Given the description of an element on the screen output the (x, y) to click on. 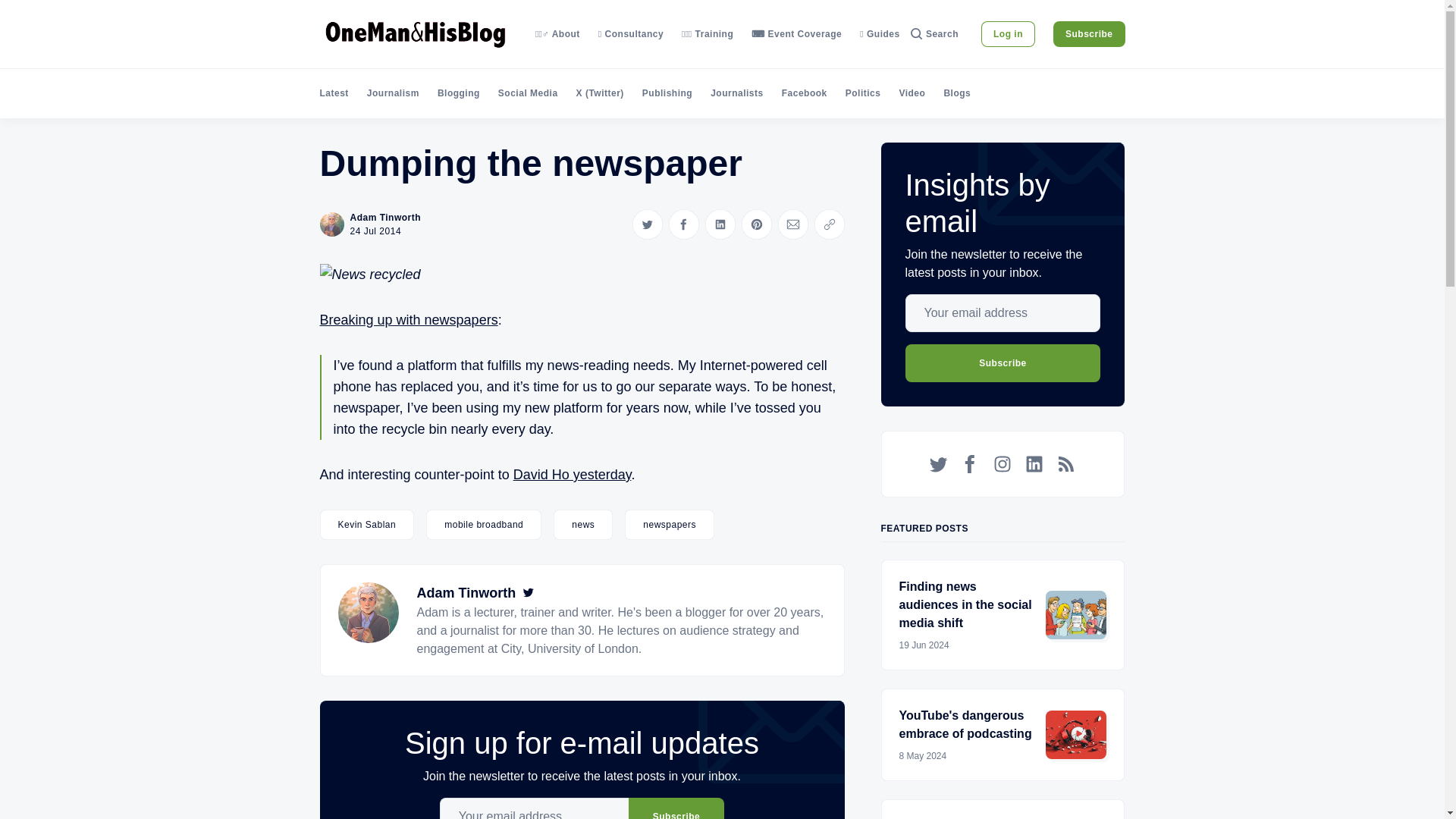
Adam Tinworth (466, 592)
Search (933, 33)
Breaking up with newspapers (408, 319)
Subscribe (1088, 33)
Publishing (667, 92)
David Ho yesterday (572, 474)
Facebook (804, 92)
Share on Pinterest (756, 224)
Share on Facebook (683, 224)
Twitter (528, 592)
newspapers (669, 524)
Adam Tinworth (386, 217)
Subscribe (676, 808)
Share on Twitter (646, 224)
Log in (1008, 33)
